Given the description of an element on the screen output the (x, y) to click on. 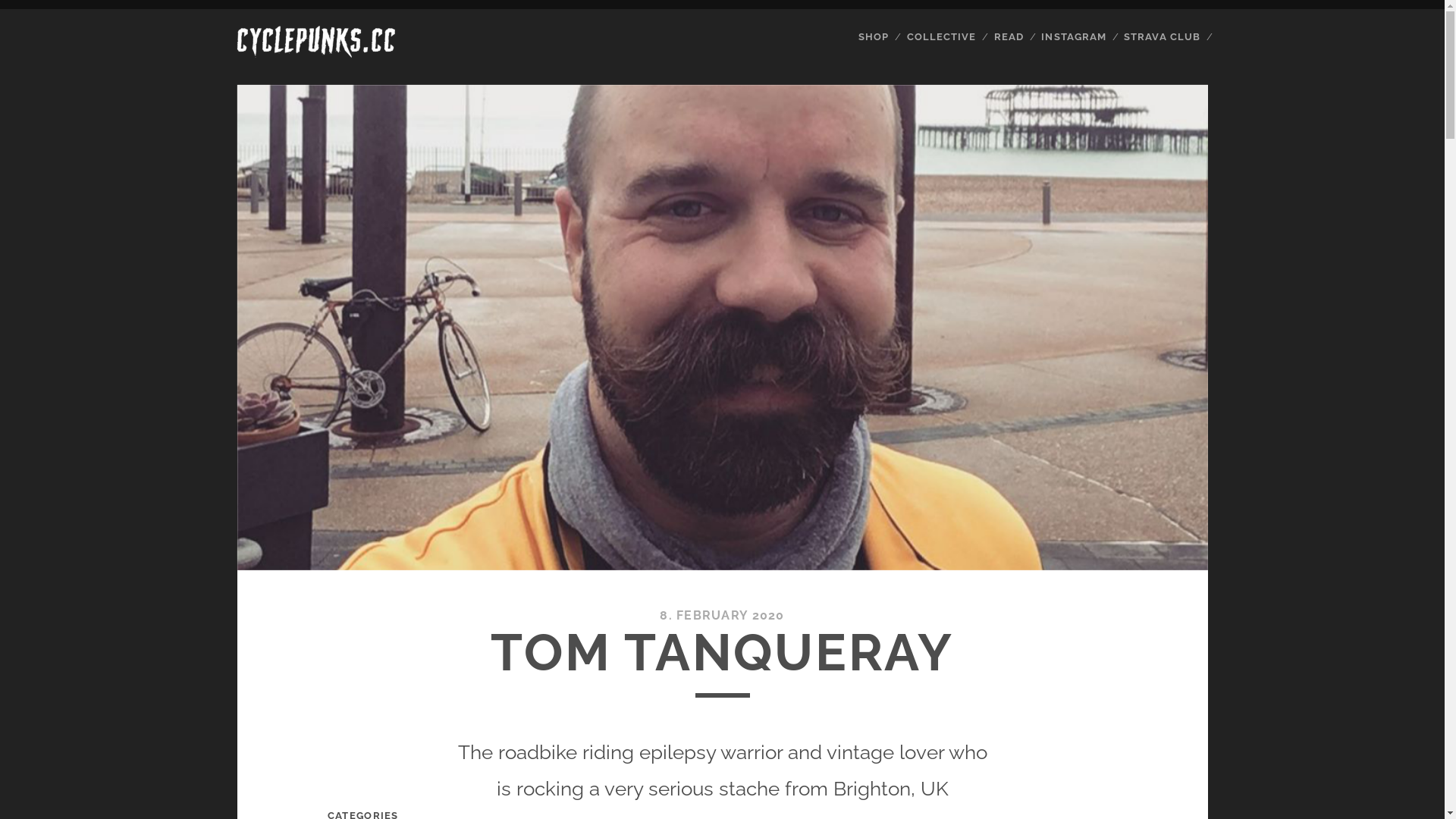
SHOP Element type: text (873, 37)
INSTAGRAM Element type: text (1073, 37)
READ Element type: text (1008, 37)
COLLECTIVE Element type: text (940, 37)
STRAVA CLUB Element type: text (1161, 37)
